Given the description of an element on the screen output the (x, y) to click on. 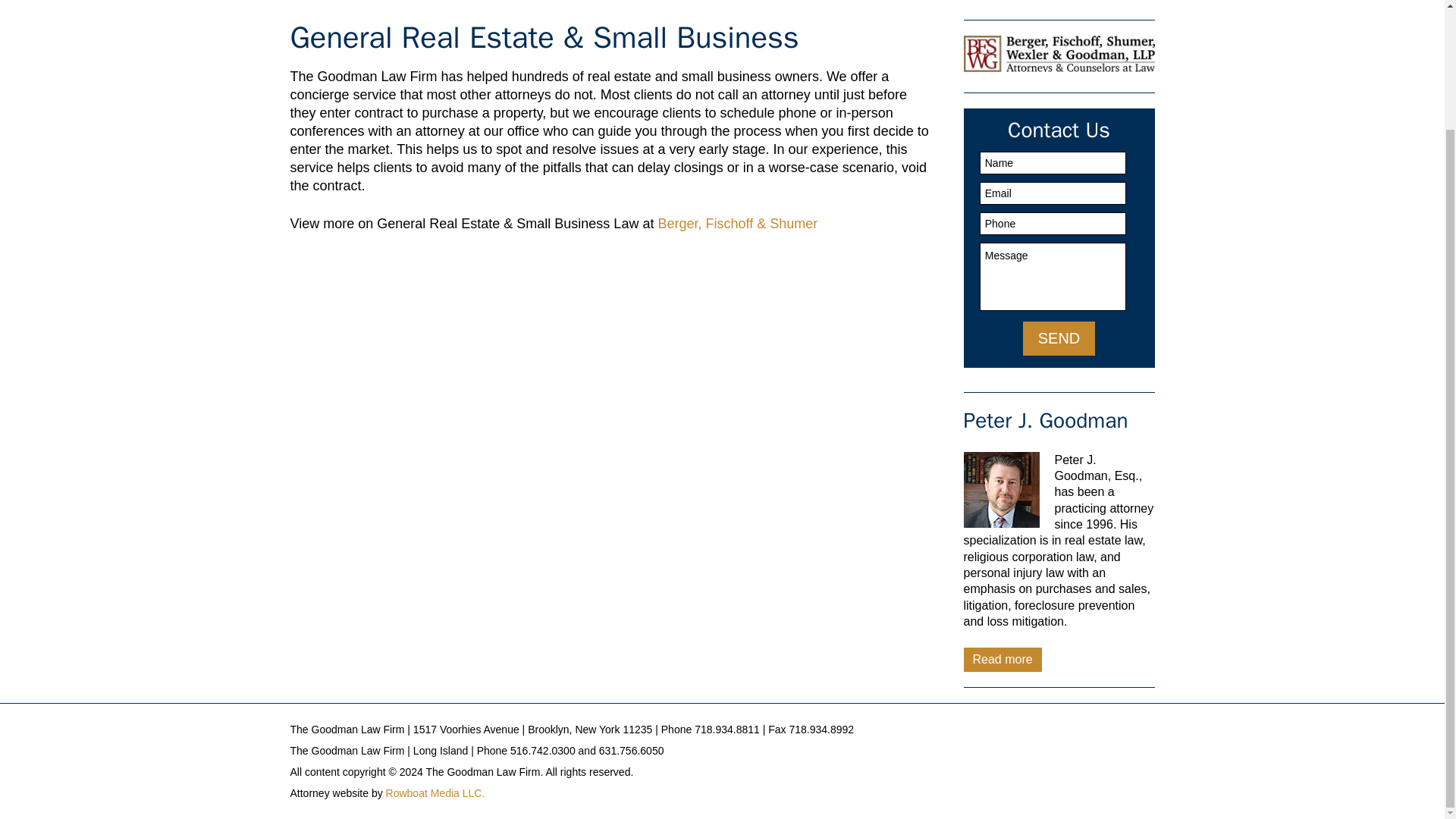
SEND (1059, 338)
Rowboat Media LLC. (434, 793)
Read more (1001, 658)
SEND (1059, 338)
